Given the description of an element on the screen output the (x, y) to click on. 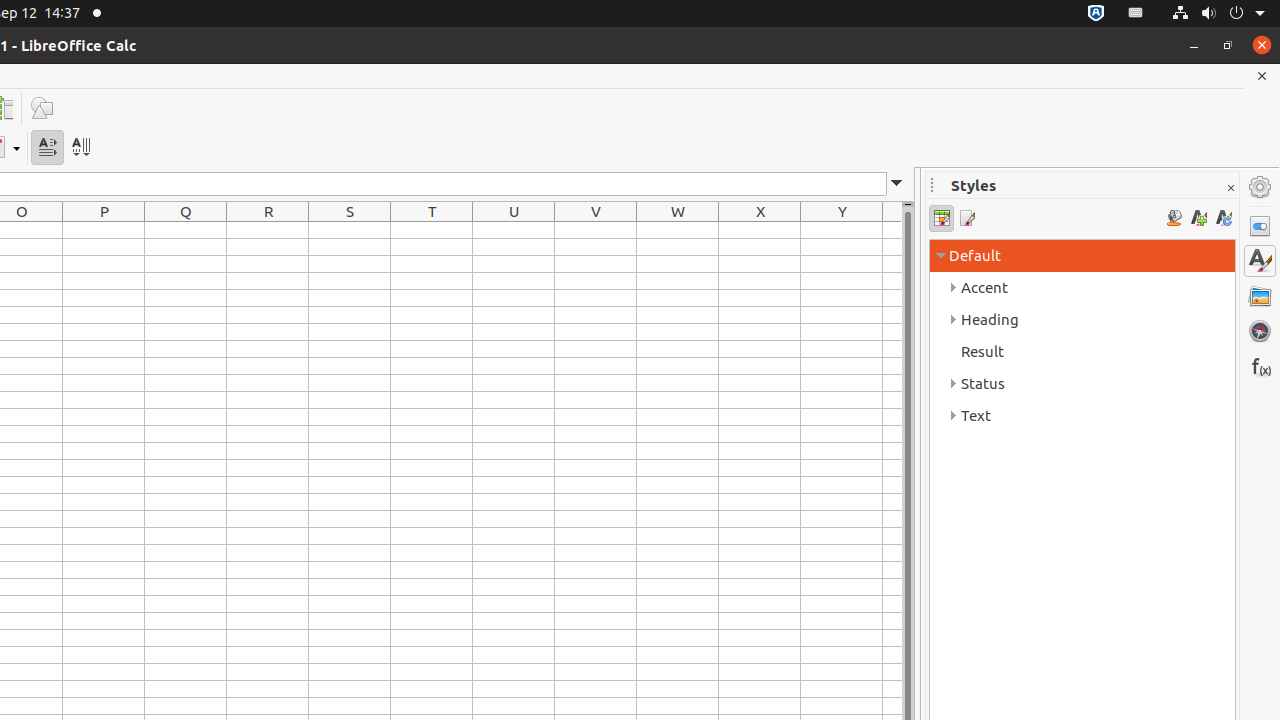
V1 Element type: table-cell (596, 230)
Gallery Element type: radio-button (1260, 296)
U1 Element type: table-cell (514, 230)
Styles Element type: radio-button (1260, 261)
